Given the description of an element on the screen output the (x, y) to click on. 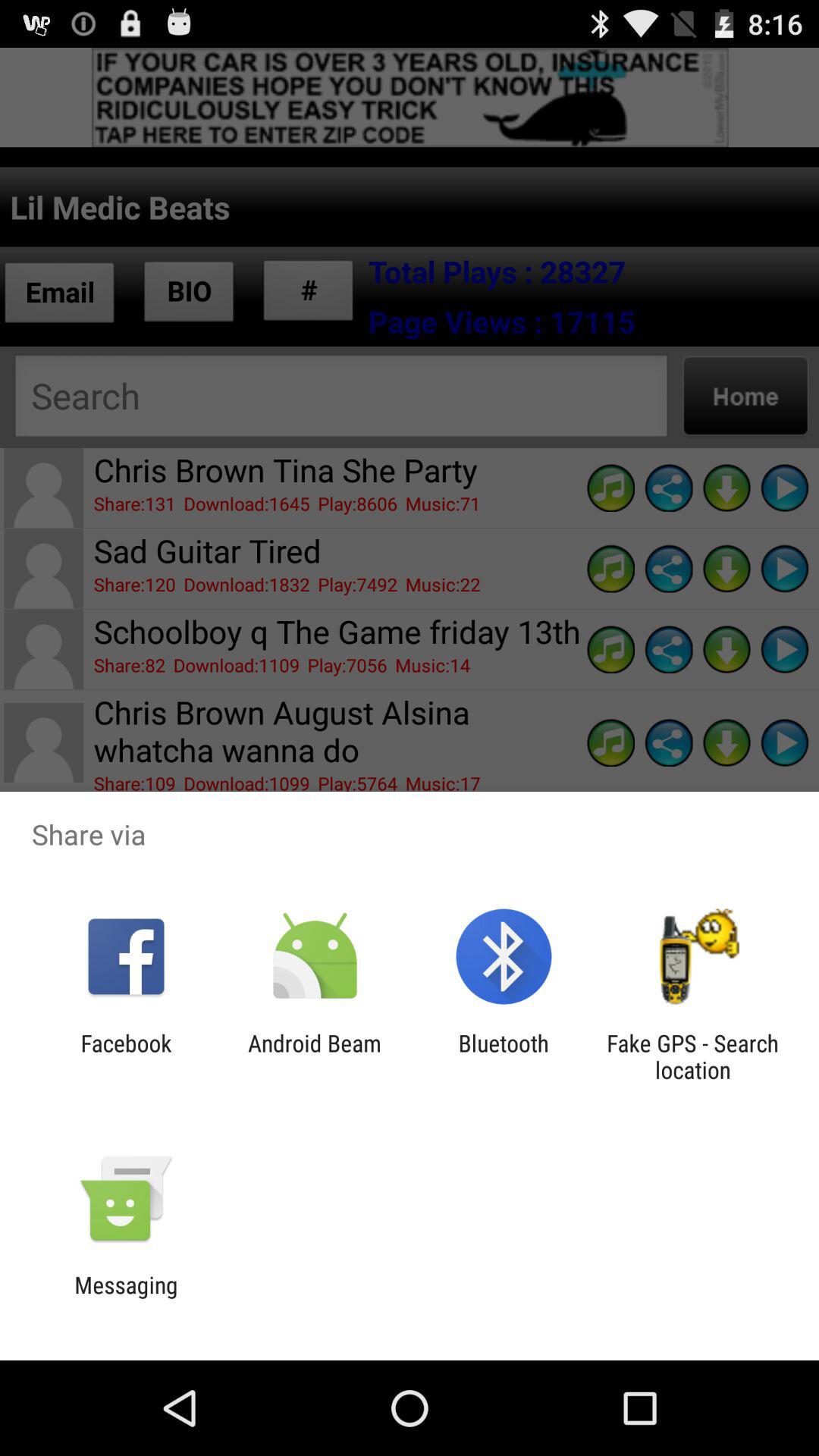
turn on icon to the left of the android beam app (125, 1056)
